Given the description of an element on the screen output the (x, y) to click on. 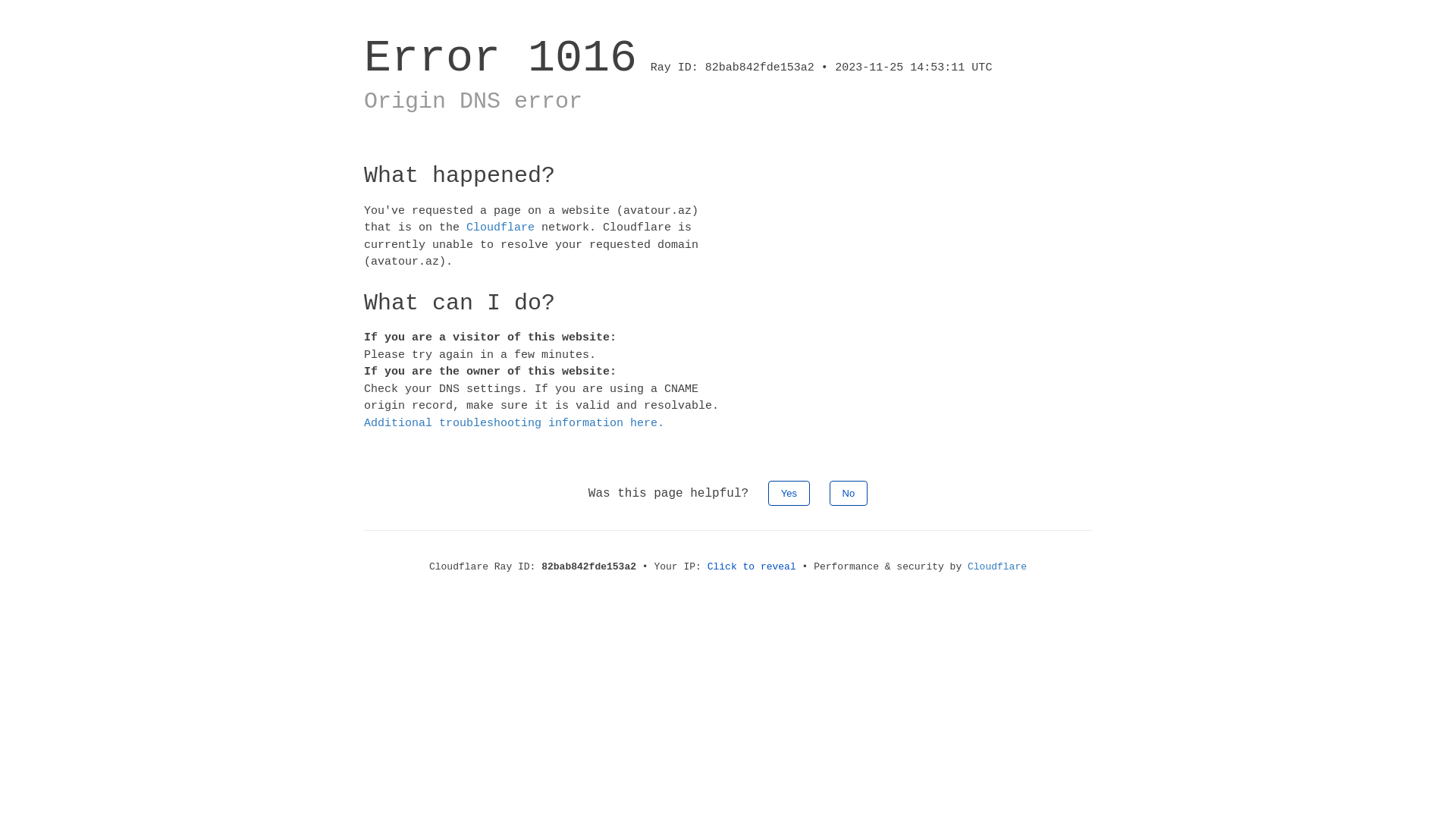
Additional troubleshooting information here. Element type: text (514, 423)
No Element type: text (848, 492)
Cloudflare Element type: text (500, 227)
Click to reveal Element type: text (751, 566)
Yes Element type: text (788, 492)
Cloudflare Element type: text (996, 566)
